Given the description of an element on the screen output the (x, y) to click on. 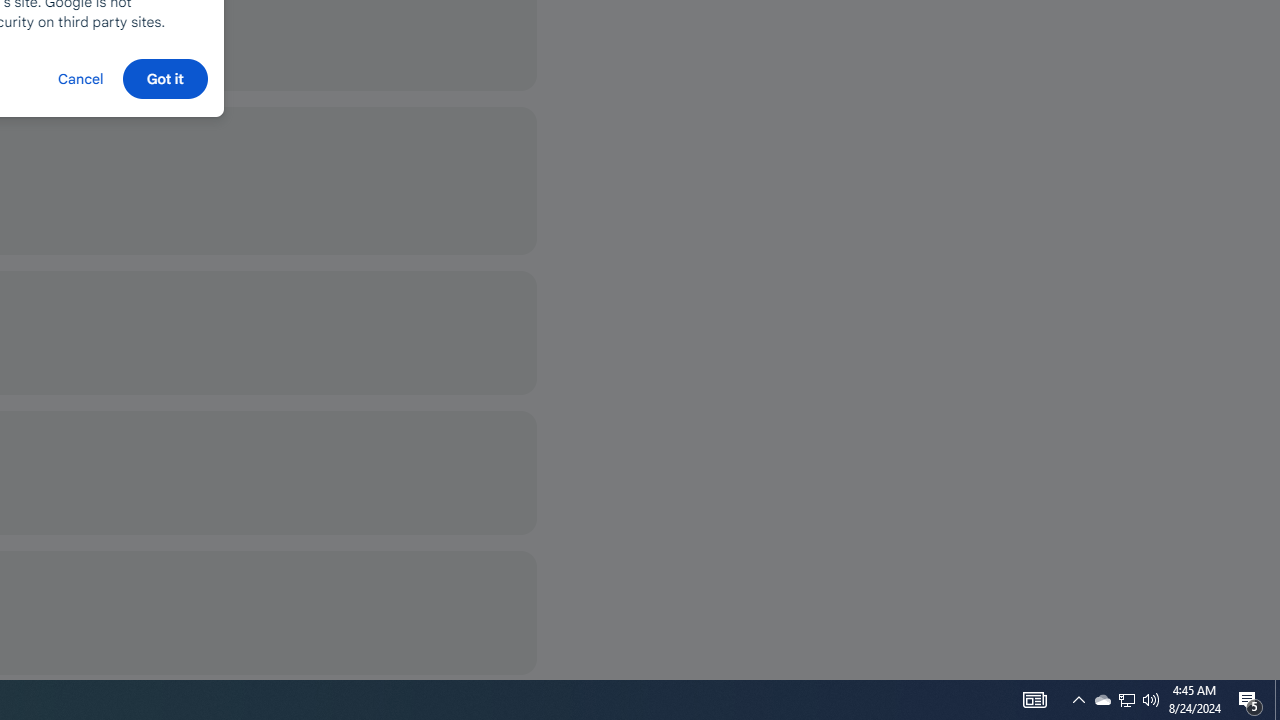
Cancel (80, 78)
Got it (164, 78)
